Given the description of an element on the screen output the (x, y) to click on. 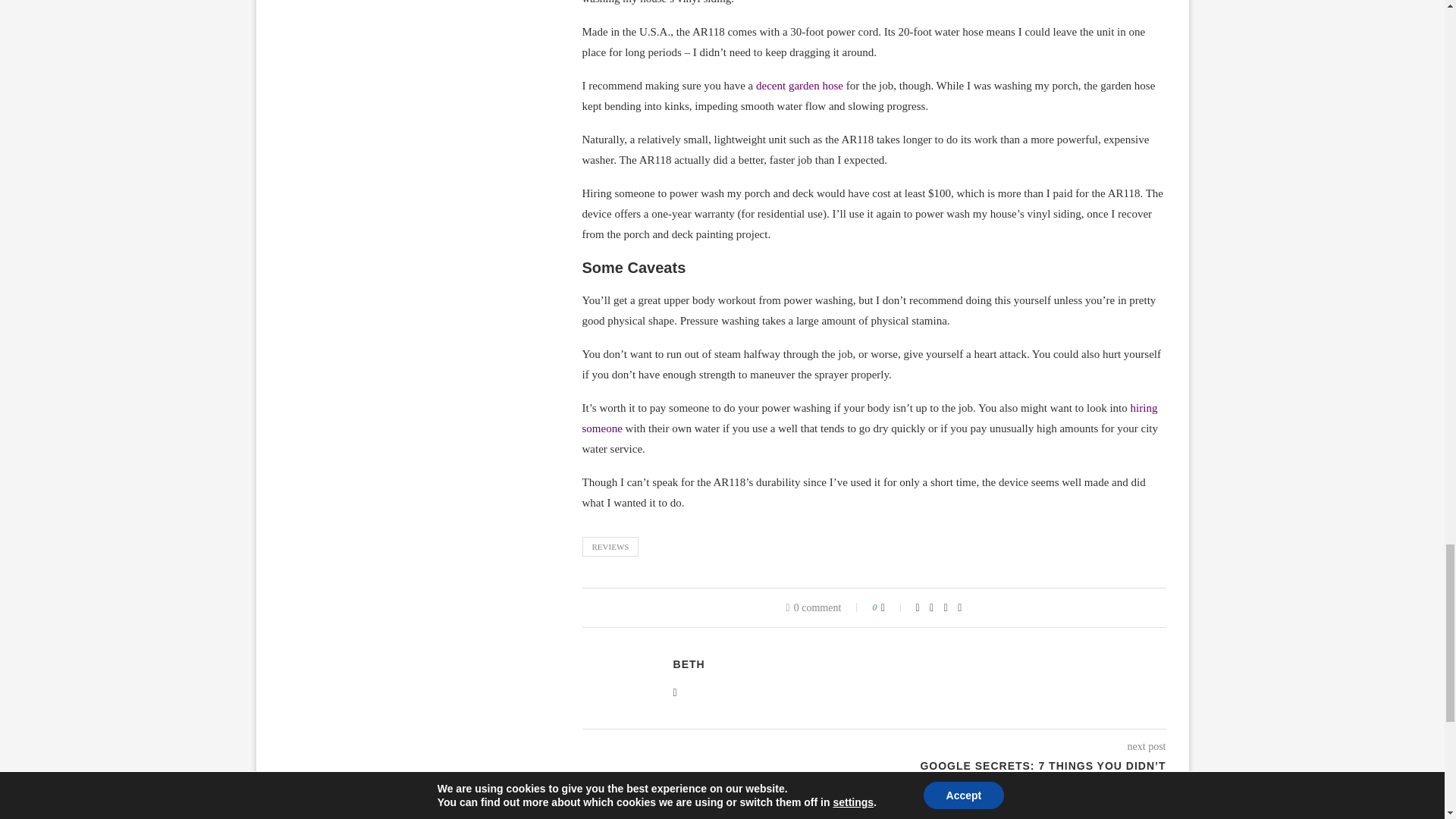
Posts by Beth (688, 664)
Like (892, 607)
